Given the description of an element on the screen output the (x, y) to click on. 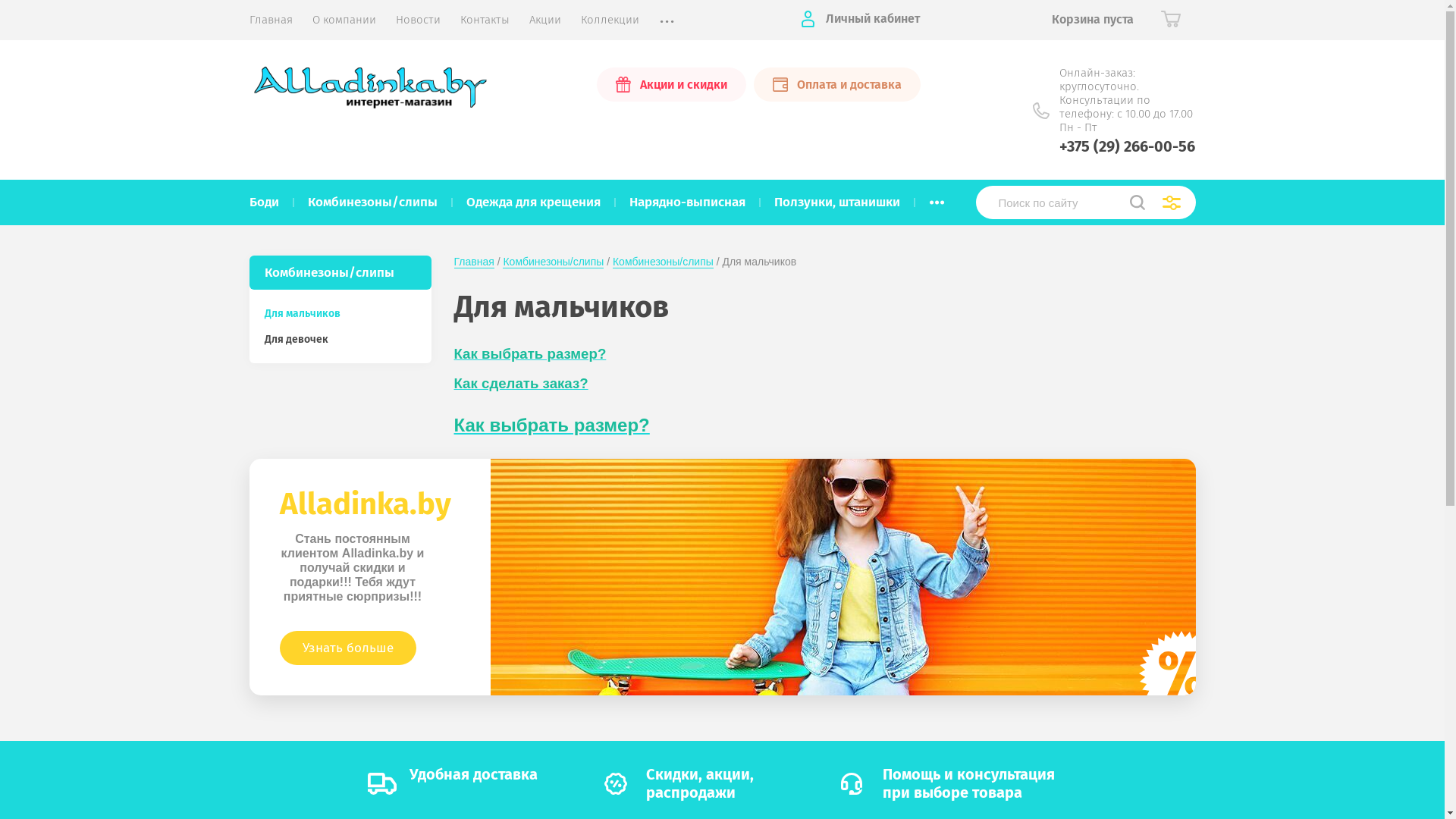
... Element type: text (936, 201)
+375 (29) 266-00-56 Element type: text (1126, 146)
